Given the description of an element on the screen output the (x, y) to click on. 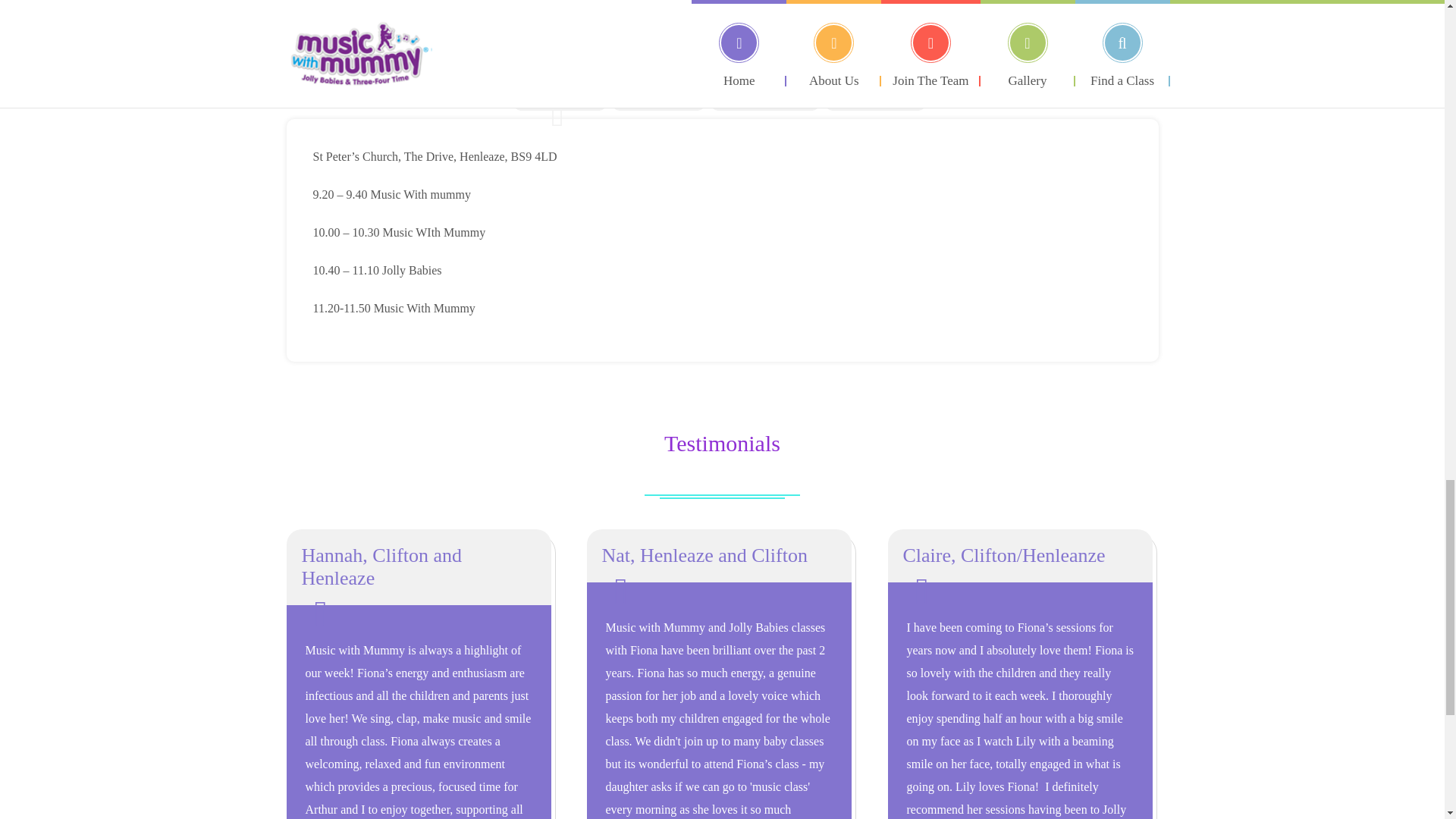
Tuesday (657, 92)
Thursday (875, 92)
Wednesday (764, 92)
Monday (560, 70)
